Given the description of an element on the screen output the (x, y) to click on. 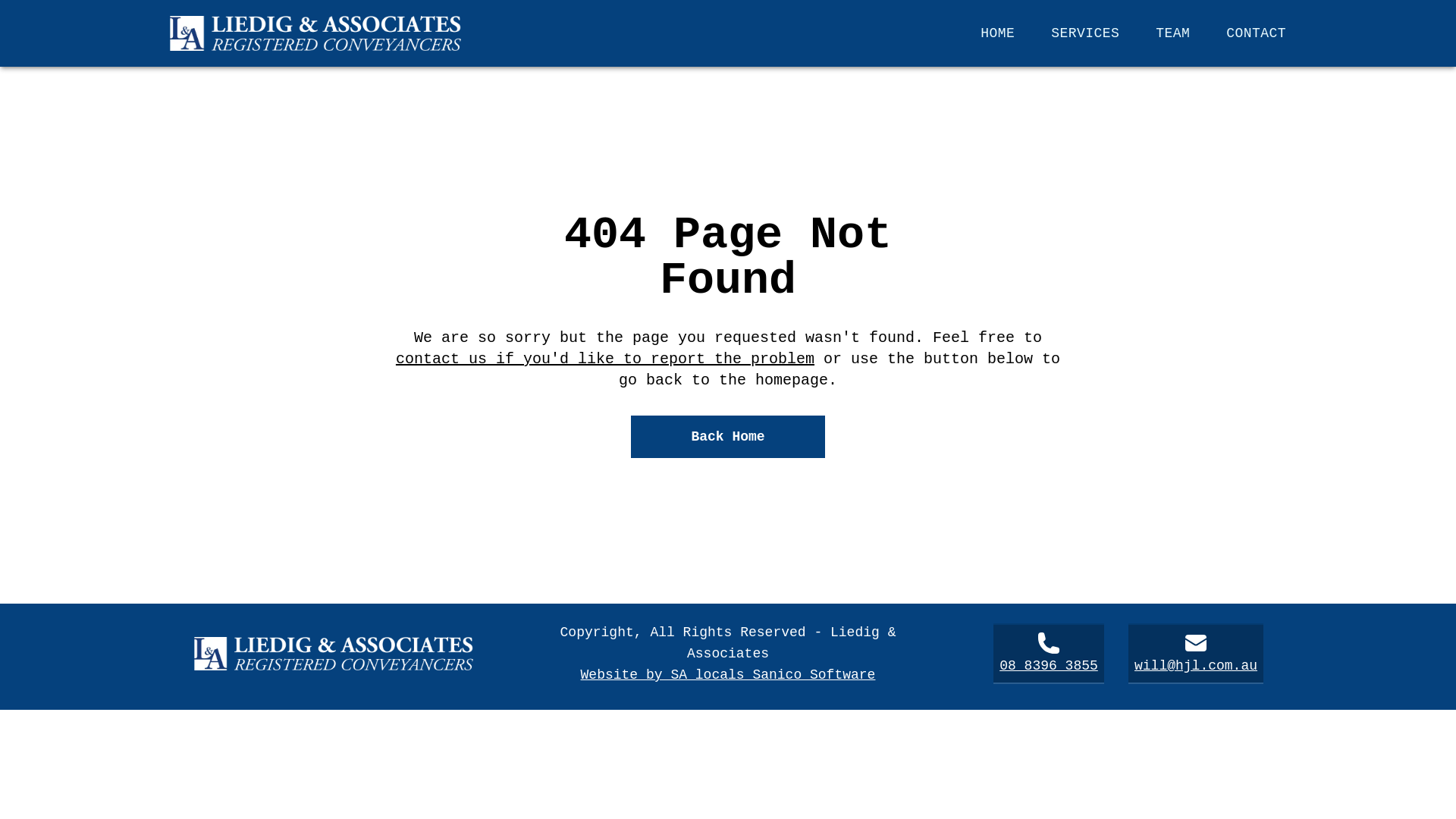
Website by SA locals Sanico Software Element type: text (727, 674)
will@hjl.com.au Element type: text (1195, 653)
TEAM Element type: text (1172, 32)
Back Home Element type: text (727, 436)
CONTACT Element type: text (1256, 32)
HOME Element type: text (997, 32)
contact us if you'd like to report the problem Element type: text (604, 358)
08 8396 3855 Element type: text (1048, 653)
SERVICES Element type: text (1085, 32)
